Given the description of an element on the screen output the (x, y) to click on. 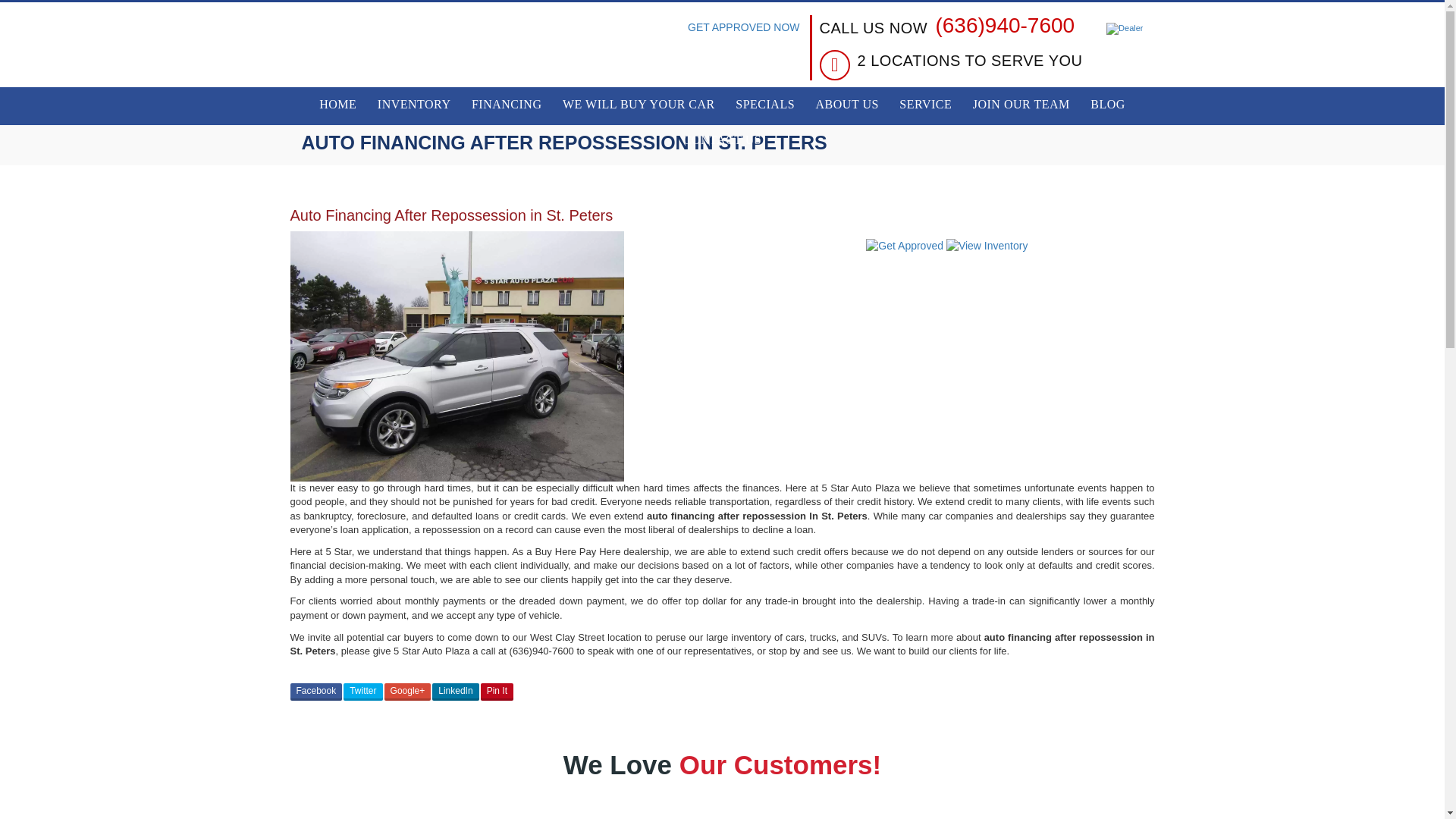
HOME (337, 104)
5 Star Auto Plaza (408, 50)
JOIN OUR TEAM (1020, 104)
BLOG (1107, 104)
FINANCING (507, 104)
SERVICE (924, 104)
ABOUT US (847, 104)
SPECIALS (764, 104)
INVENTORY (414, 104)
CONTACT US (722, 140)
